Given the description of an element on the screen output the (x, y) to click on. 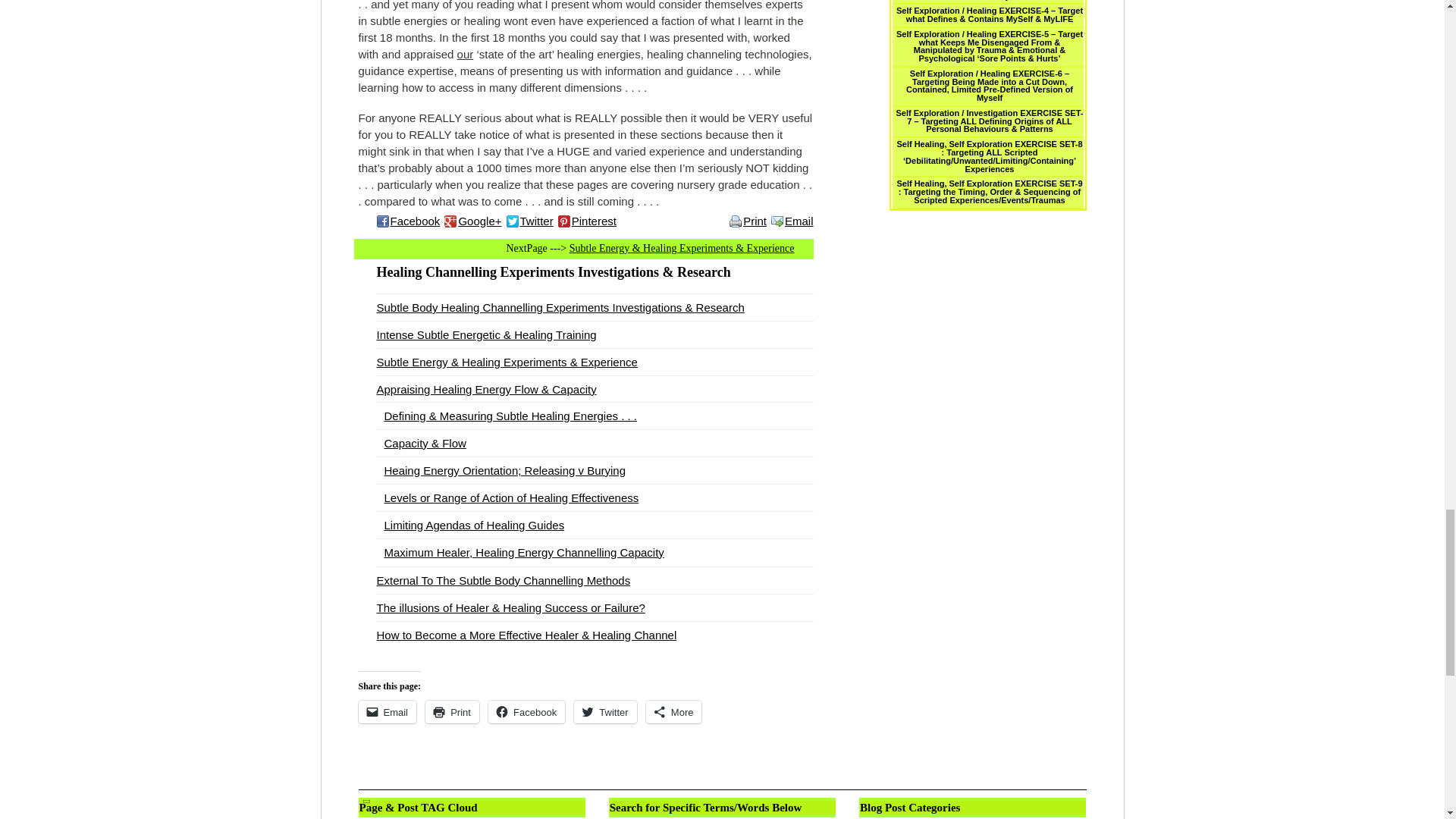
Twitter (531, 221)
Facebook (409, 221)
Email (792, 221)
Print (750, 221)
Pinterest (589, 221)
